Given the description of an element on the screen output the (x, y) to click on. 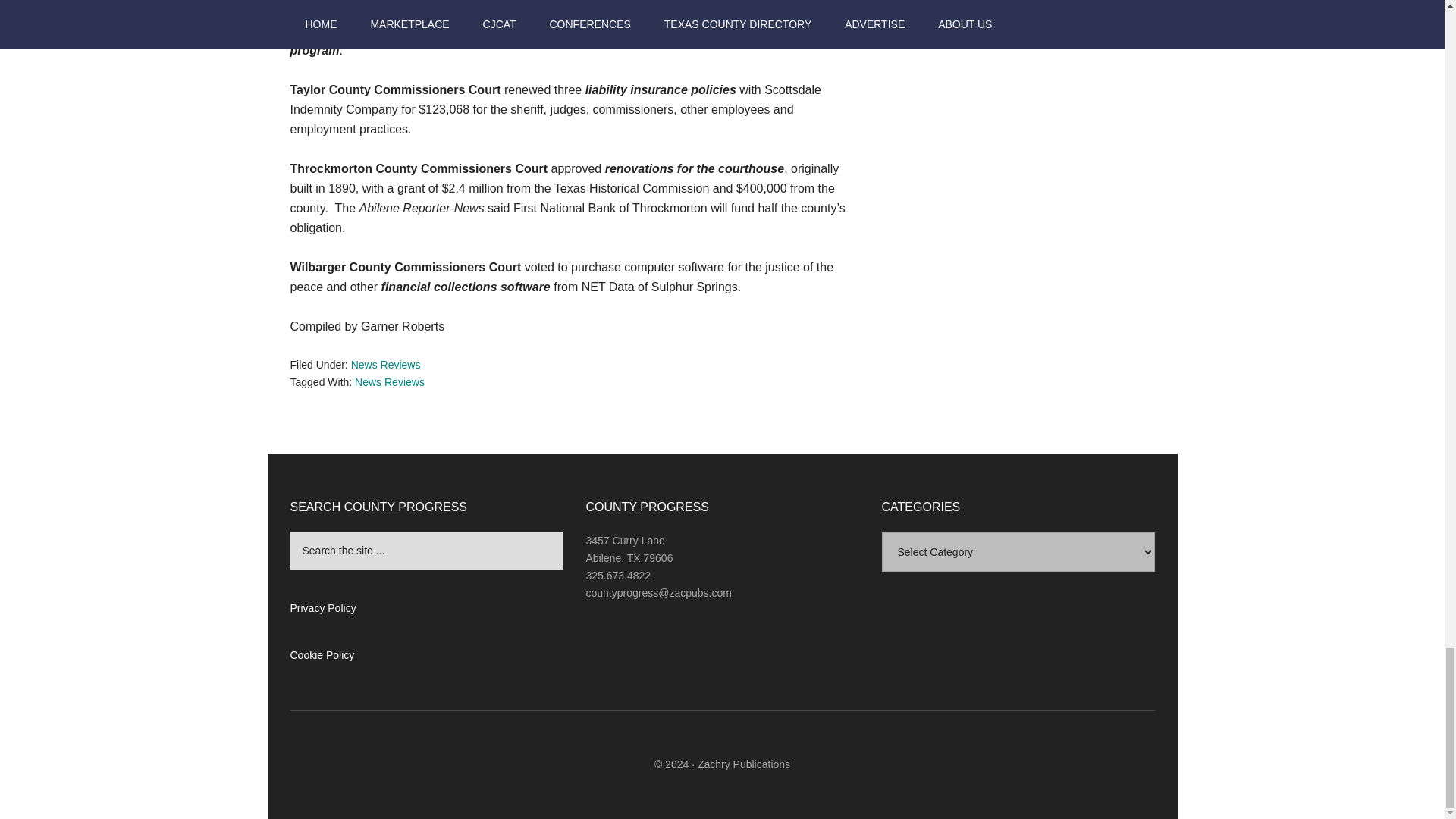
Privacy Policy  (322, 607)
Cookie Policy  (321, 654)
